Given the description of an element on the screen output the (x, y) to click on. 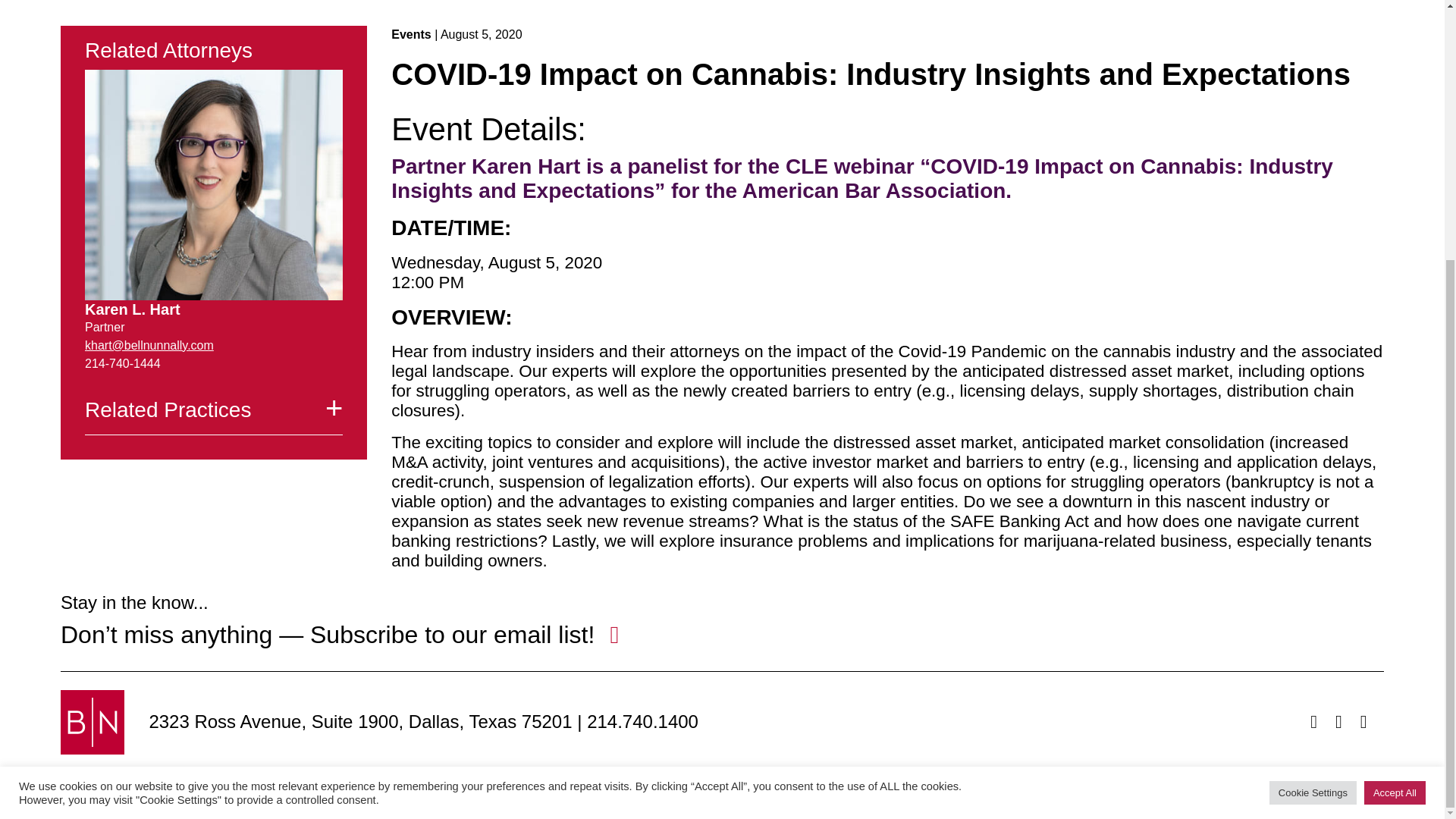
Privacy Policy (565, 799)
Accept All (1394, 421)
Sitemap (400, 799)
Email (149, 345)
Cookie Settings (1312, 421)
Disclaimer (474, 799)
214-740-1444 (122, 363)
Client Pay (654, 799)
Direct Phone (122, 363)
Subscribe to our email list! (452, 634)
214.740.1400 (642, 721)
Phone (642, 721)
